Given the description of an element on the screen output the (x, y) to click on. 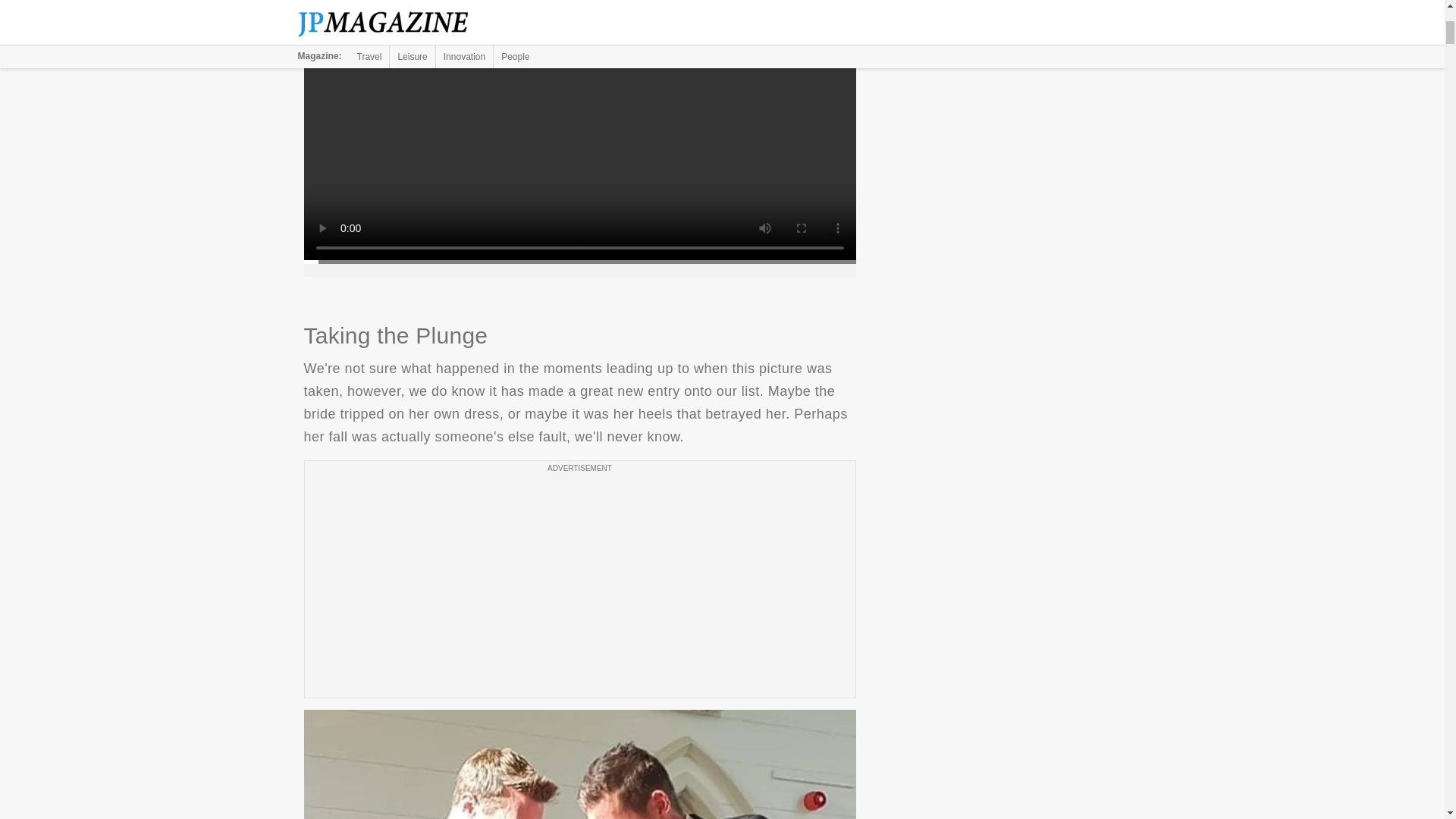
Taking the Plunge (579, 764)
